Given the description of an element on the screen output the (x, y) to click on. 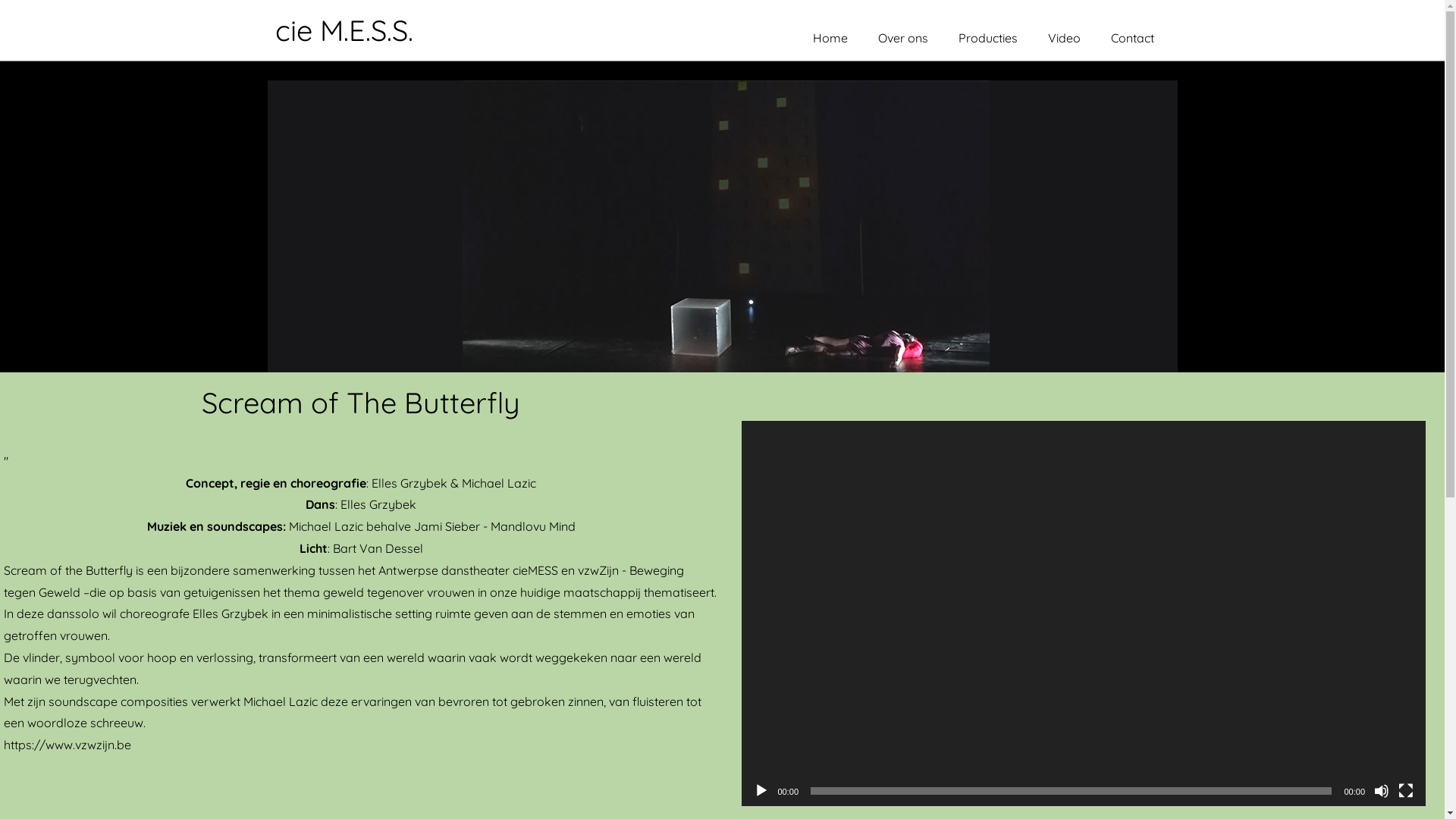
cie M.E.S.S. Element type: text (343, 29)
Over ons Element type: text (902, 37)
Afbreken Element type: hover (1381, 790)
https://www.vzwzijn.be Element type: text (67, 744)
Producties Element type: text (987, 37)
Video Element type: text (1063, 37)
Volledig scherm Element type: hover (1405, 790)
Contact Element type: text (1132, 37)
Afspelen Element type: hover (760, 790)
Home Element type: text (829, 37)
